Given the description of an element on the screen output the (x, y) to click on. 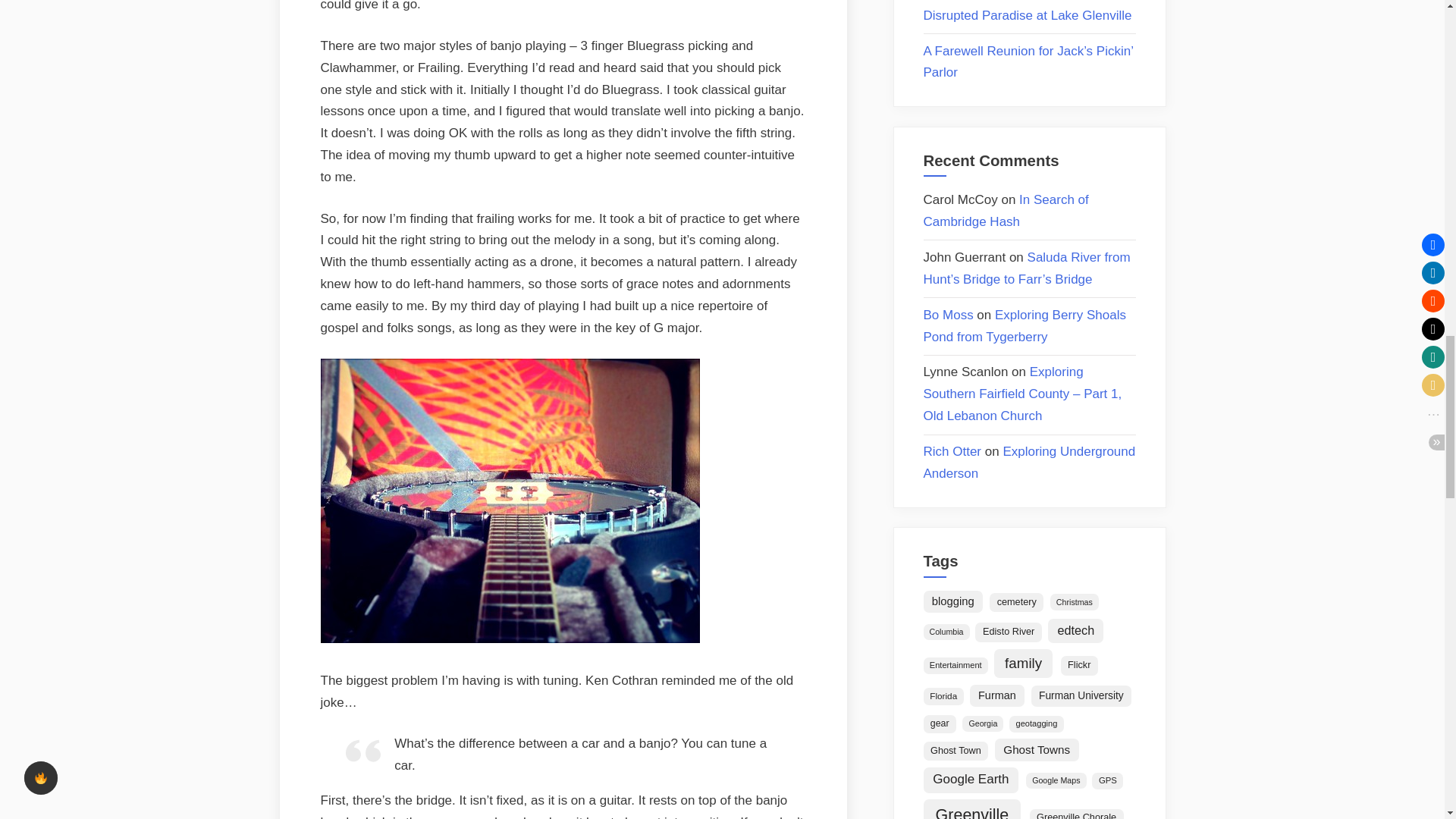
Birthday Banjo (509, 638)
